Given the description of an element on the screen output the (x, y) to click on. 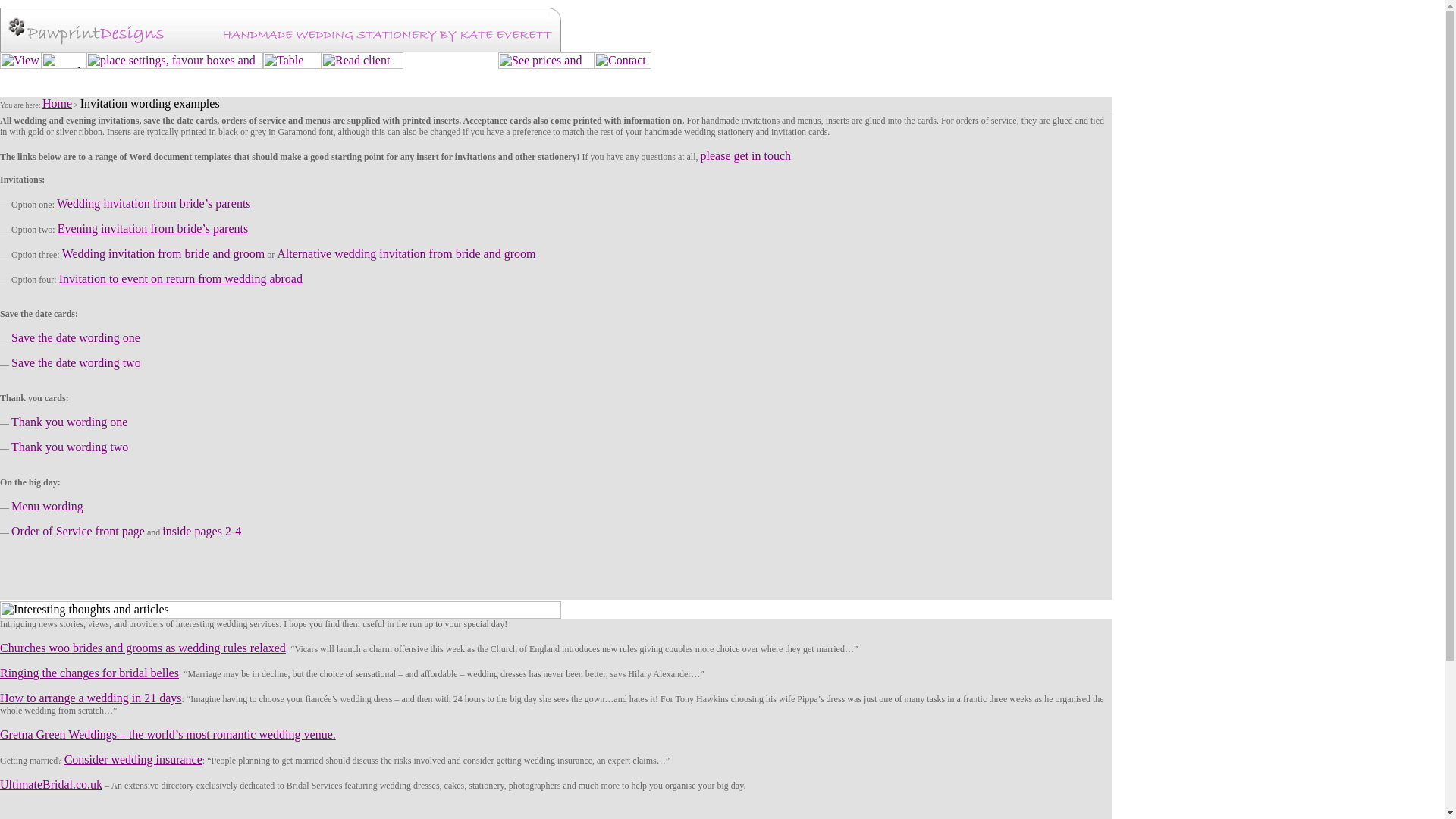
Wedding invitation from bride and groom (163, 253)
Order of Service front page (77, 530)
Save the date wording one (75, 337)
inside pages 2-4 (201, 530)
Menu wording (46, 505)
Consider wedding insurance (133, 758)
Alternative wedding invitation from bride and groom (405, 253)
Thank you wording one (69, 421)
Invitation to event on return from wedding abroad (180, 278)
please get in touch (746, 155)
UltimateBridal.co.uk (50, 784)
How to arrange a wedding in 21 days (91, 697)
Home (56, 103)
Save the date wording two (76, 362)
Thank you wording two (69, 446)
